Given the description of an element on the screen output the (x, y) to click on. 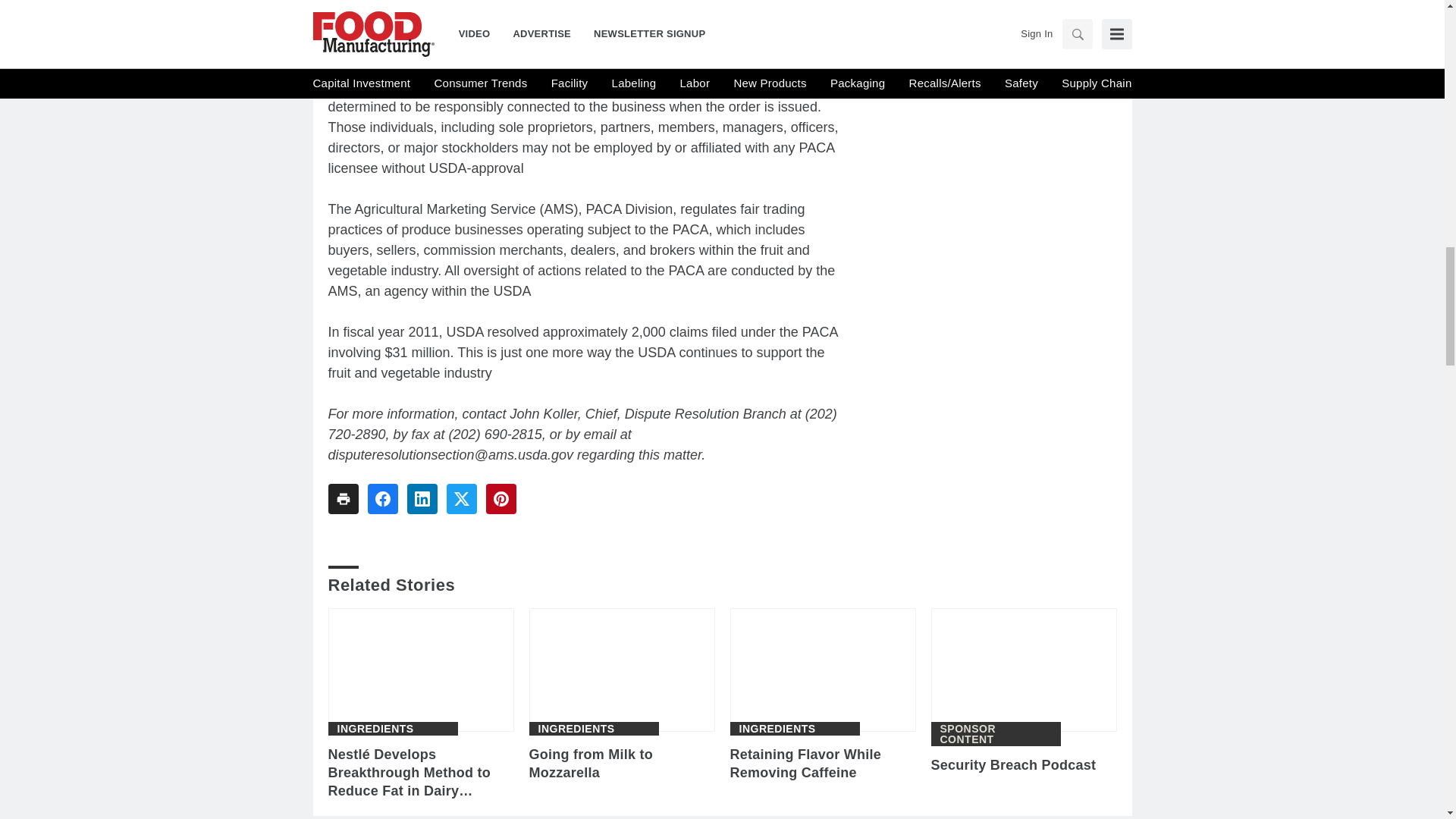
Share To twitter (460, 499)
Share To linkedin (421, 499)
Share To print (342, 499)
Ingredients (374, 728)
Share To facebook (381, 499)
Ingredients (576, 728)
Share To pinterest (499, 499)
